Given the description of an element on the screen output the (x, y) to click on. 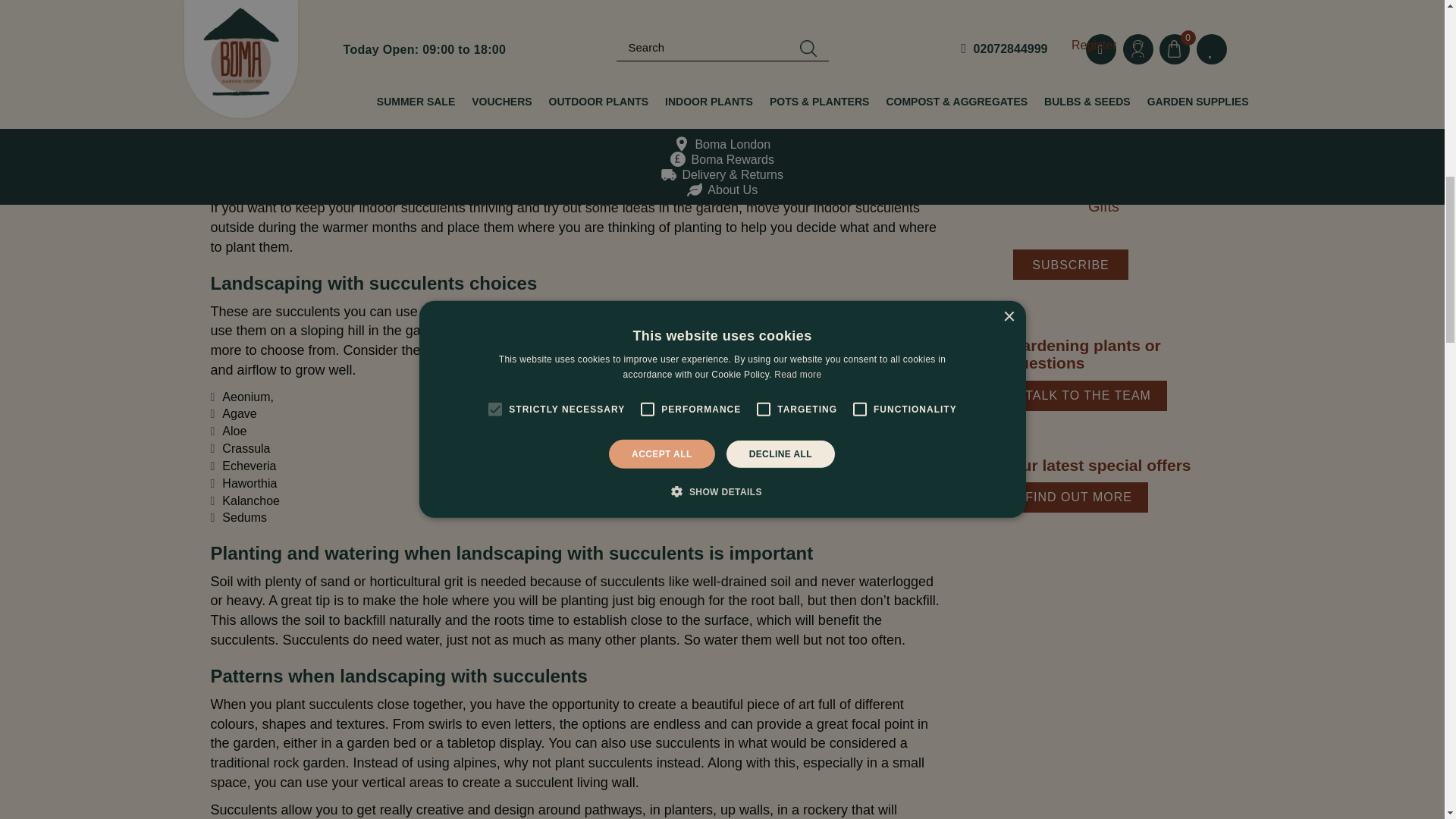
22 (1092, 163)
2 (1092, 141)
23 (1092, 184)
1 (1092, 120)
Subscribe (1069, 264)
